Given the description of an element on the screen output the (x, y) to click on. 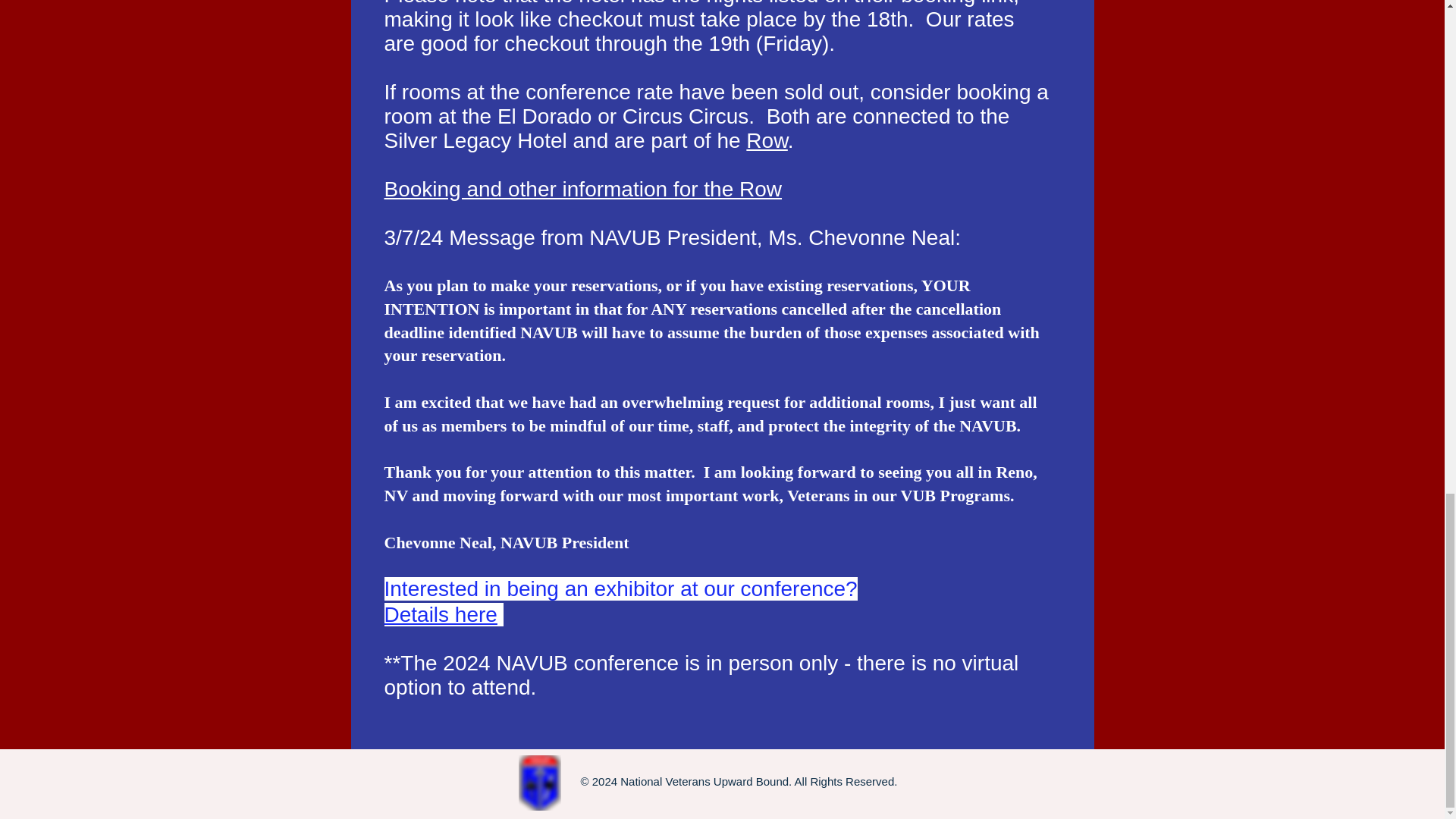
Details here (440, 614)
Row (766, 140)
Booking and other information for the Row (582, 188)
